Given the description of an element on the screen output the (x, y) to click on. 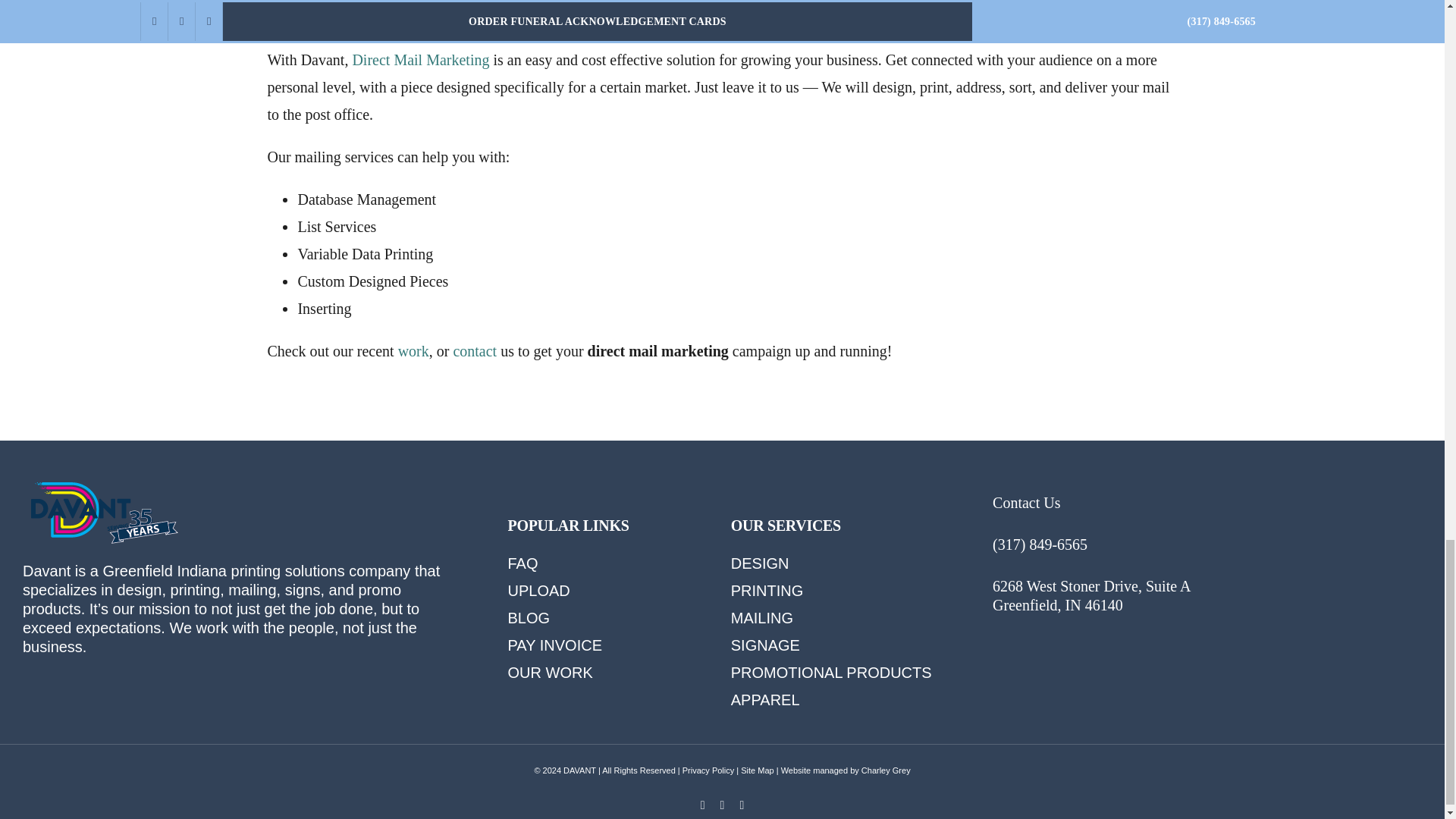
printing (256, 570)
design (138, 589)
Davant-Celebrating-35-Years-logo (103, 512)
work (413, 351)
printing (195, 589)
work (212, 627)
contact (474, 351)
signs (302, 589)
Direct Mail Marketing (420, 59)
FAQ (523, 563)
